Given the description of an element on the screen output the (x, y) to click on. 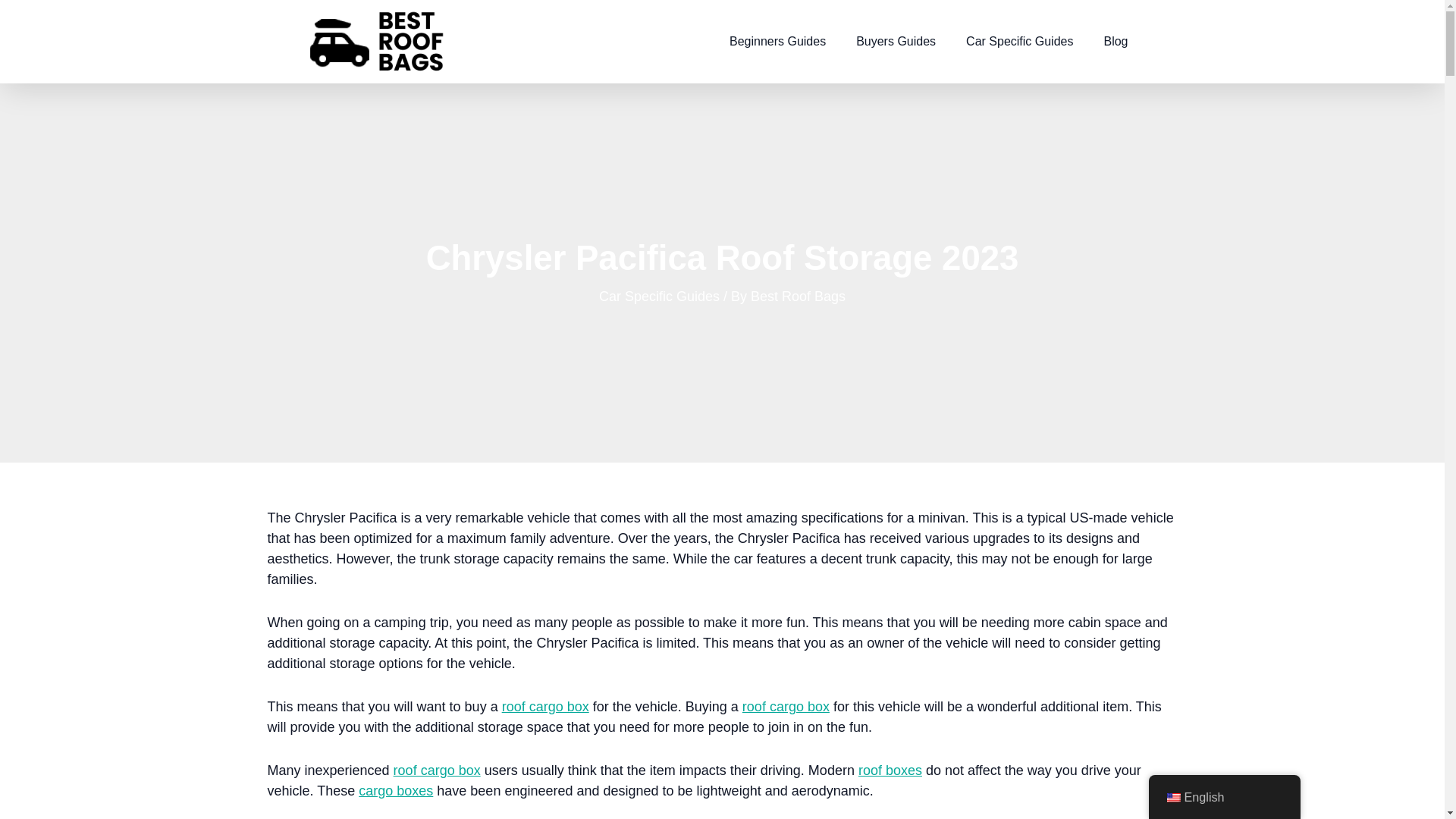
roof cargo box (436, 770)
Car Specific Guides (1018, 41)
Buyers Guides (895, 41)
Car Specific Guides (658, 296)
Beginners Guides (777, 41)
View all posts by Best Roof Bags (798, 296)
roof cargo box (545, 706)
Blog (1114, 41)
roof cargo box (785, 706)
cargo boxes (395, 790)
